Given the description of an element on the screen output the (x, y) to click on. 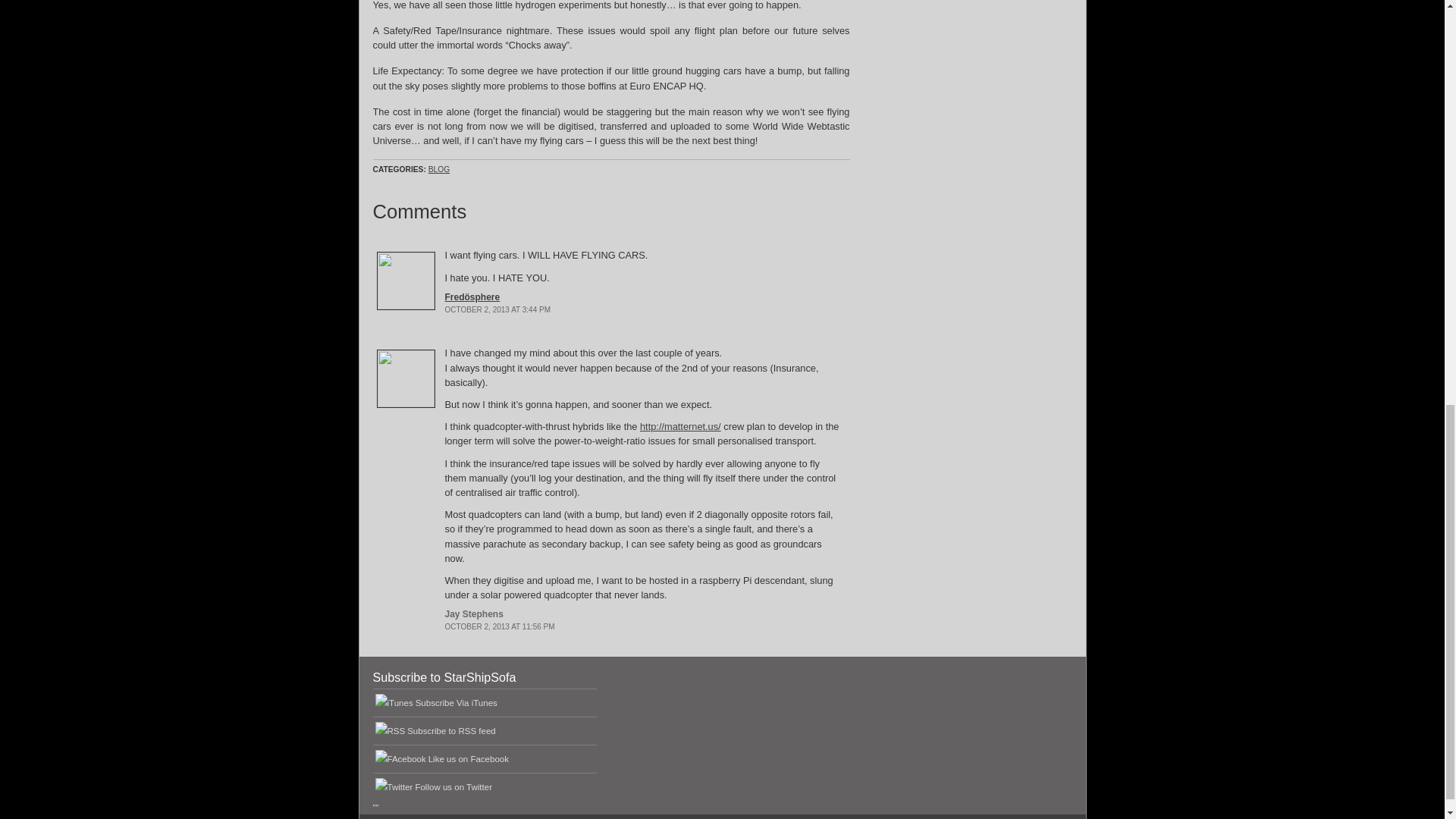
Facebook (468, 758)
Twitter (453, 786)
Subscribe on iTunes (455, 702)
OCTOBER 2, 2013 AT 11:56 PM (499, 626)
Get A Postcard Sent From ME! (967, 39)
BLOG (438, 169)
Subscribe to RSS feed (451, 730)
OCTOBER 2, 2013 AT 3:44 PM (497, 309)
